Given the description of an element on the screen output the (x, y) to click on. 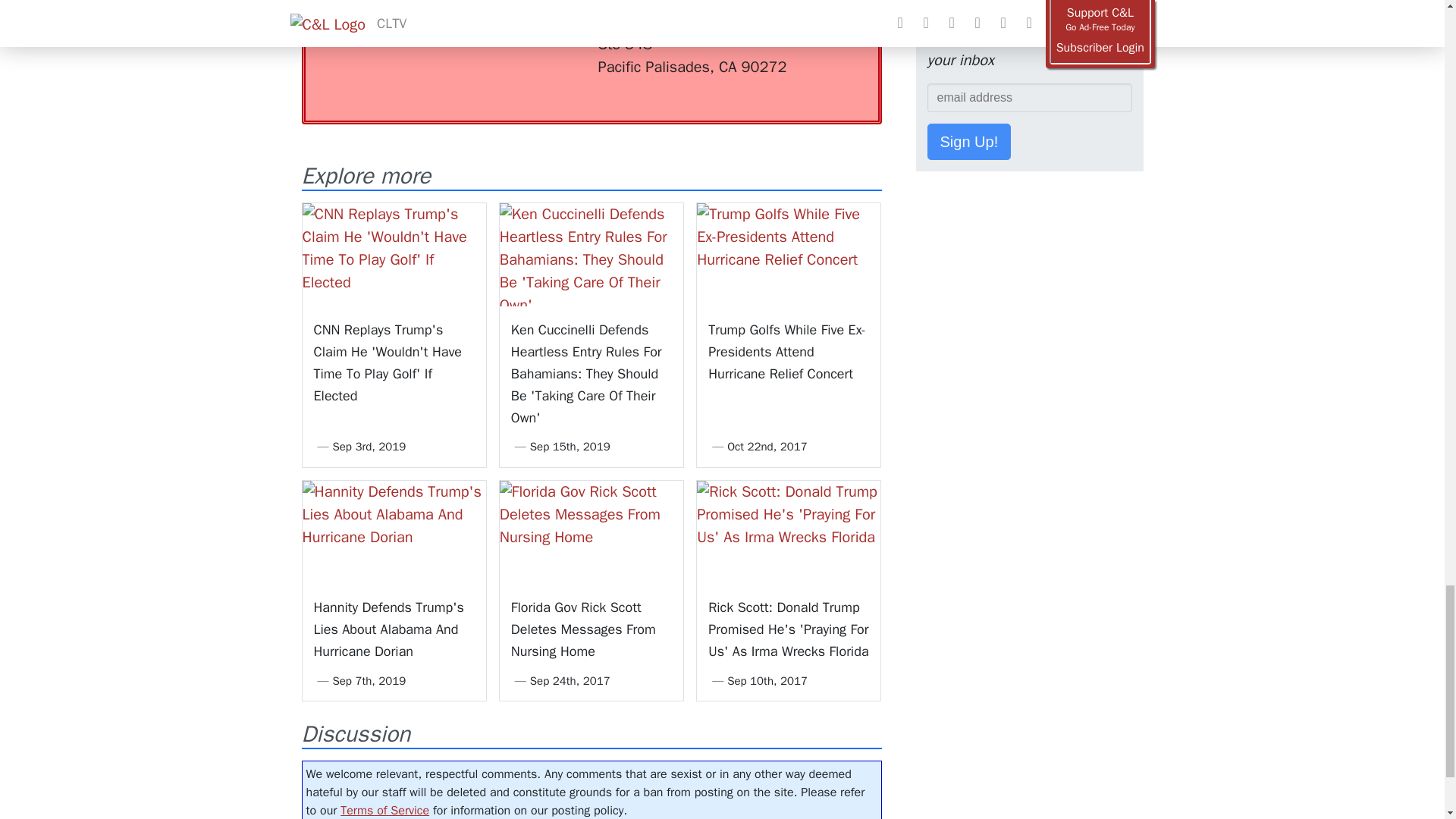
Donate via PayPal (540, 10)
Donate via Kindest (438, 21)
Kindest (438, 21)
Donate via PayPal (540, 10)
